Given the description of an element on the screen output the (x, y) to click on. 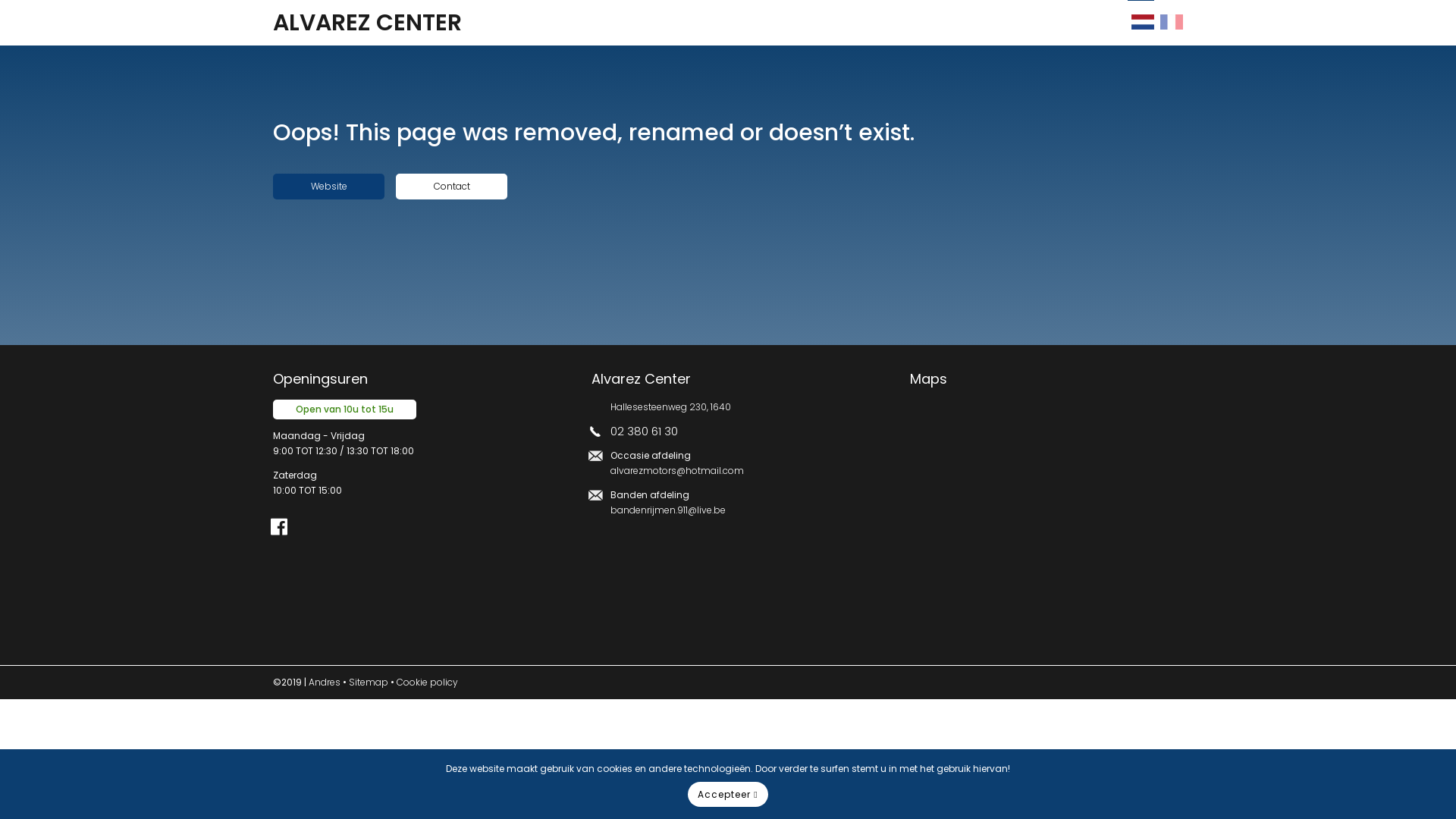
alvarezmotors@hotmail.com Element type: text (676, 470)
FR Element type: hover (1169, 25)
Website Element type: text (328, 186)
Cookie policy Element type: text (427, 681)
bandenrijmen.911@live.be Element type: text (667, 509)
Andres Element type: text (324, 681)
02 380 61 30 Element type: text (643, 431)
Sitemap Element type: text (368, 681)
Hallesesteenweg 230, 1640 Element type: text (670, 406)
Contact Element type: text (451, 186)
NL Element type: hover (1140, 25)
ALVAREZ CENTER Element type: text (591, 17)
